Given the description of an element on the screen output the (x, y) to click on. 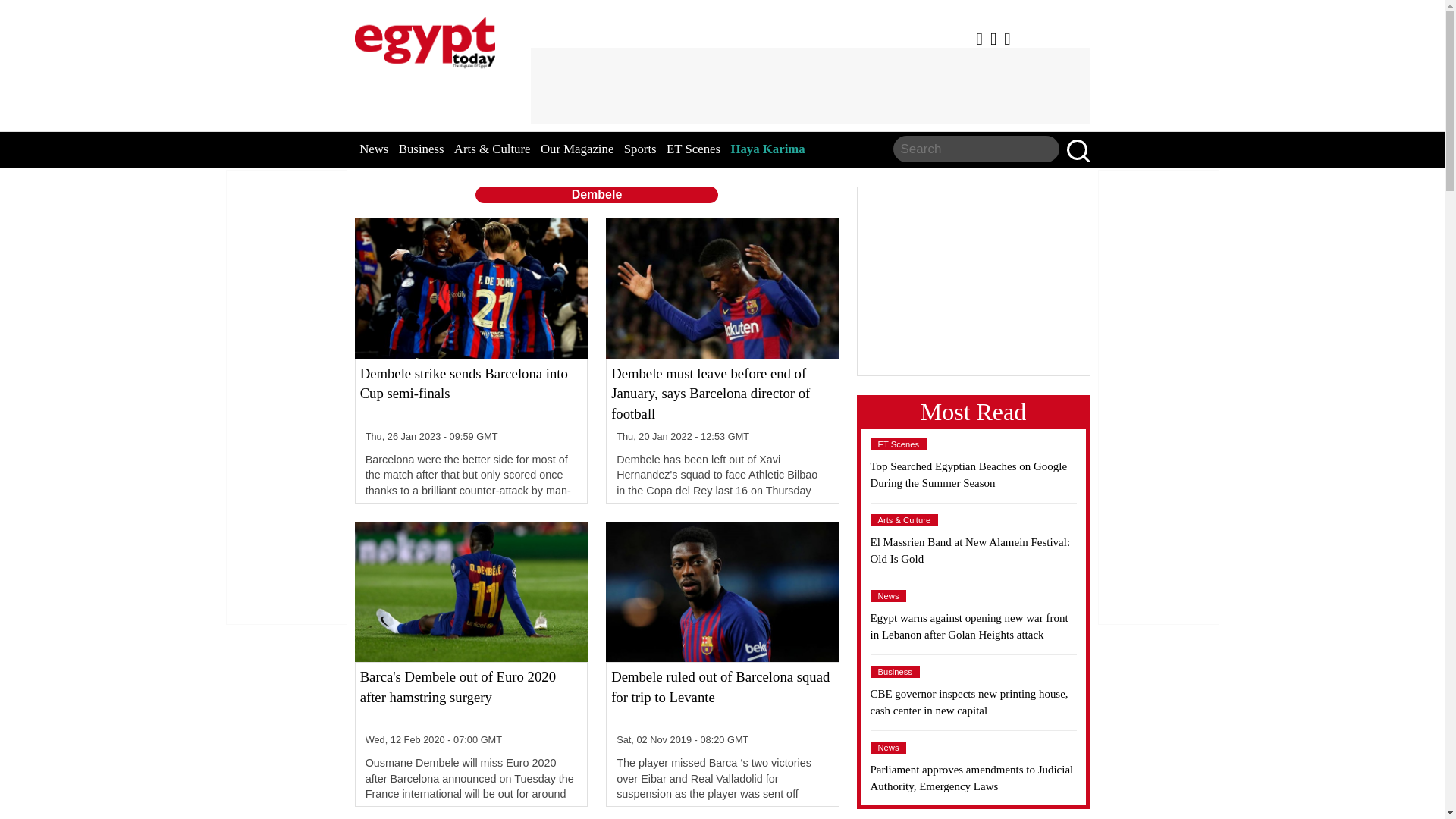
EgyptToday (425, 39)
Our Magazine (576, 149)
Sports (640, 149)
ET Scenes (693, 149)
Dembele ruled out of Barcelona squad for trip to Levante (721, 697)
Dembele strike sends Barcelona into Cup semi-finals (470, 394)
3rd party ad content (810, 85)
Haya Karima (767, 149)
Business (421, 149)
Barca's Dembele out of Euro 2020 after hamstring surgery (470, 697)
